Given the description of an element on the screen output the (x, y) to click on. 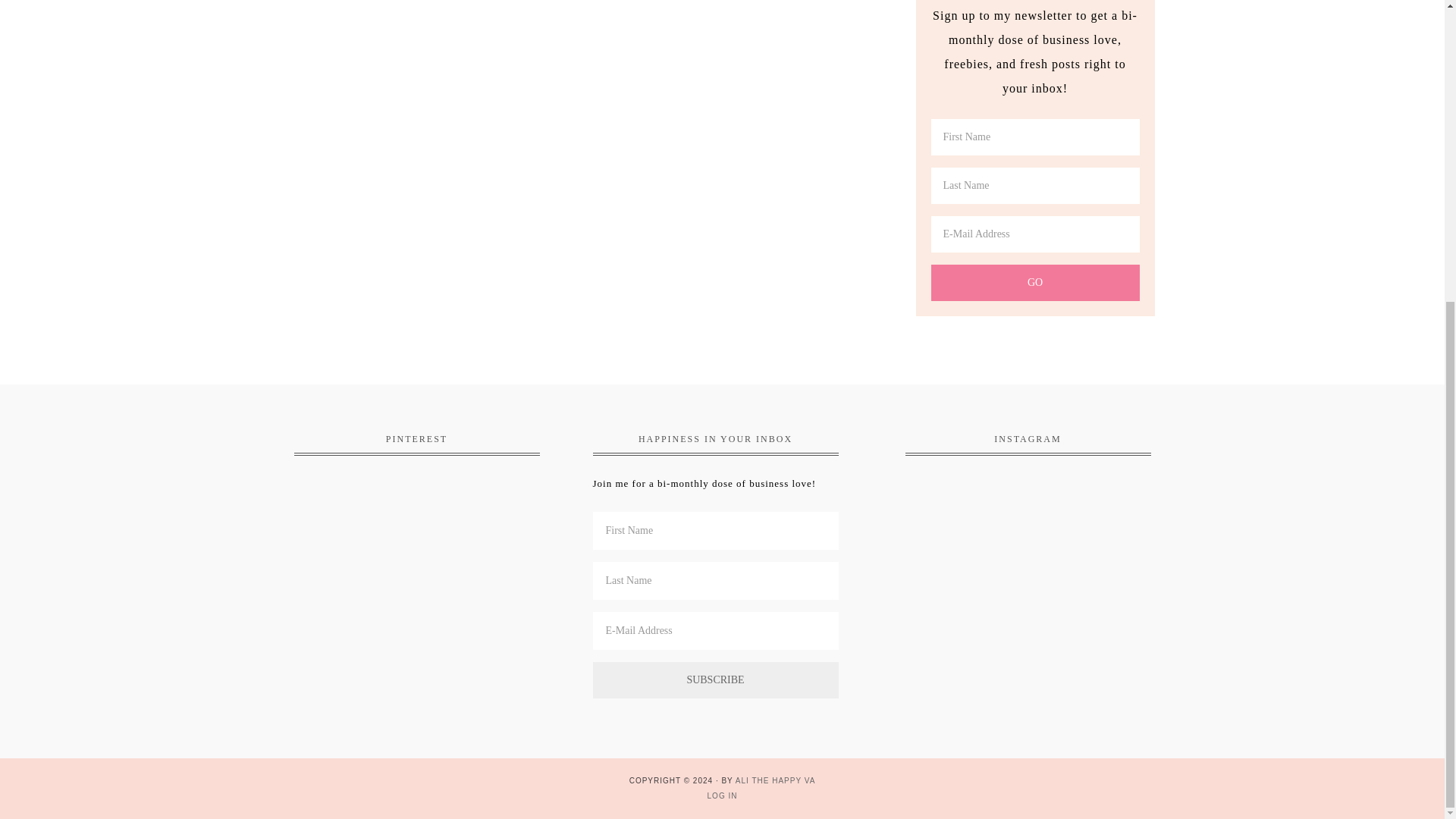
LOG IN (722, 795)
Go (1035, 282)
Go (1035, 282)
SUBSCRIBE (715, 679)
SUBSCRIBE (715, 679)
ALI THE HAPPY VA (775, 780)
